Given the description of an element on the screen output the (x, y) to click on. 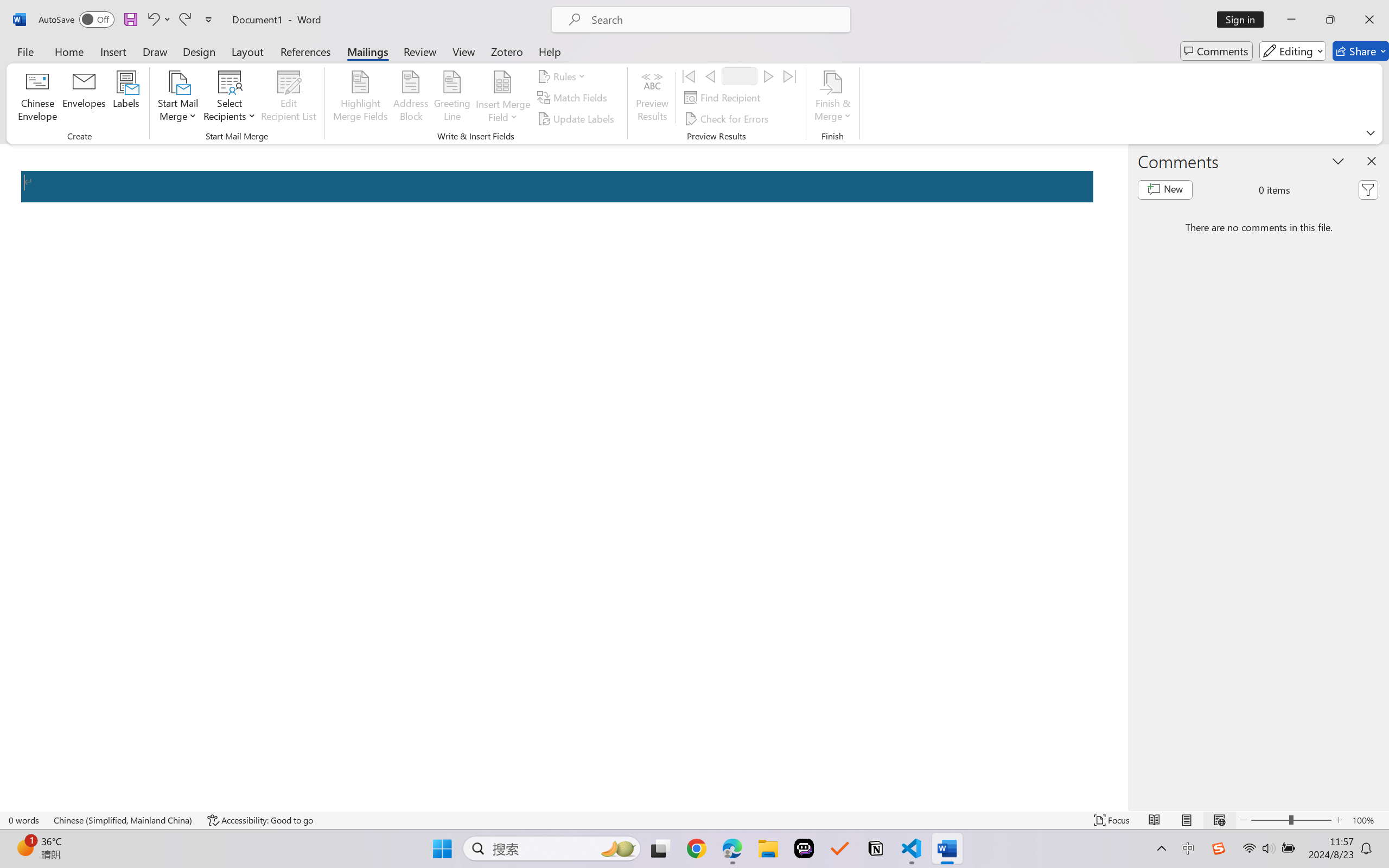
Highlight Merge Fields (360, 97)
Sign in (1244, 19)
Redo Apply Quick Style (184, 19)
Chinese Envelope... (37, 97)
Last (790, 75)
Record (739, 76)
Filter (1367, 189)
Greeting Line... (451, 97)
Previous (709, 75)
